Given the description of an element on the screen output the (x, y) to click on. 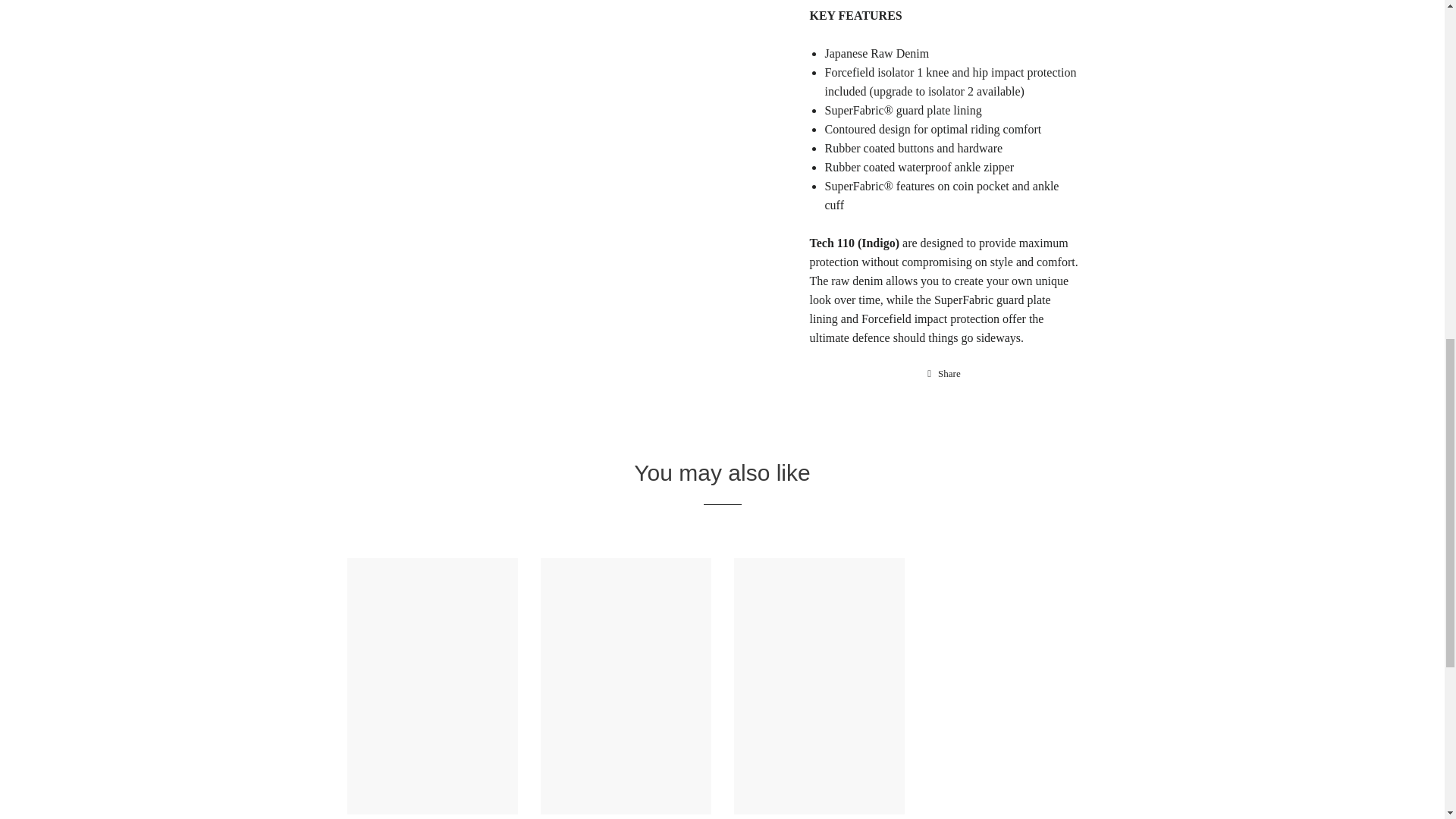
Share on Facebook (944, 373)
